Given the description of an element on the screen output the (x, y) to click on. 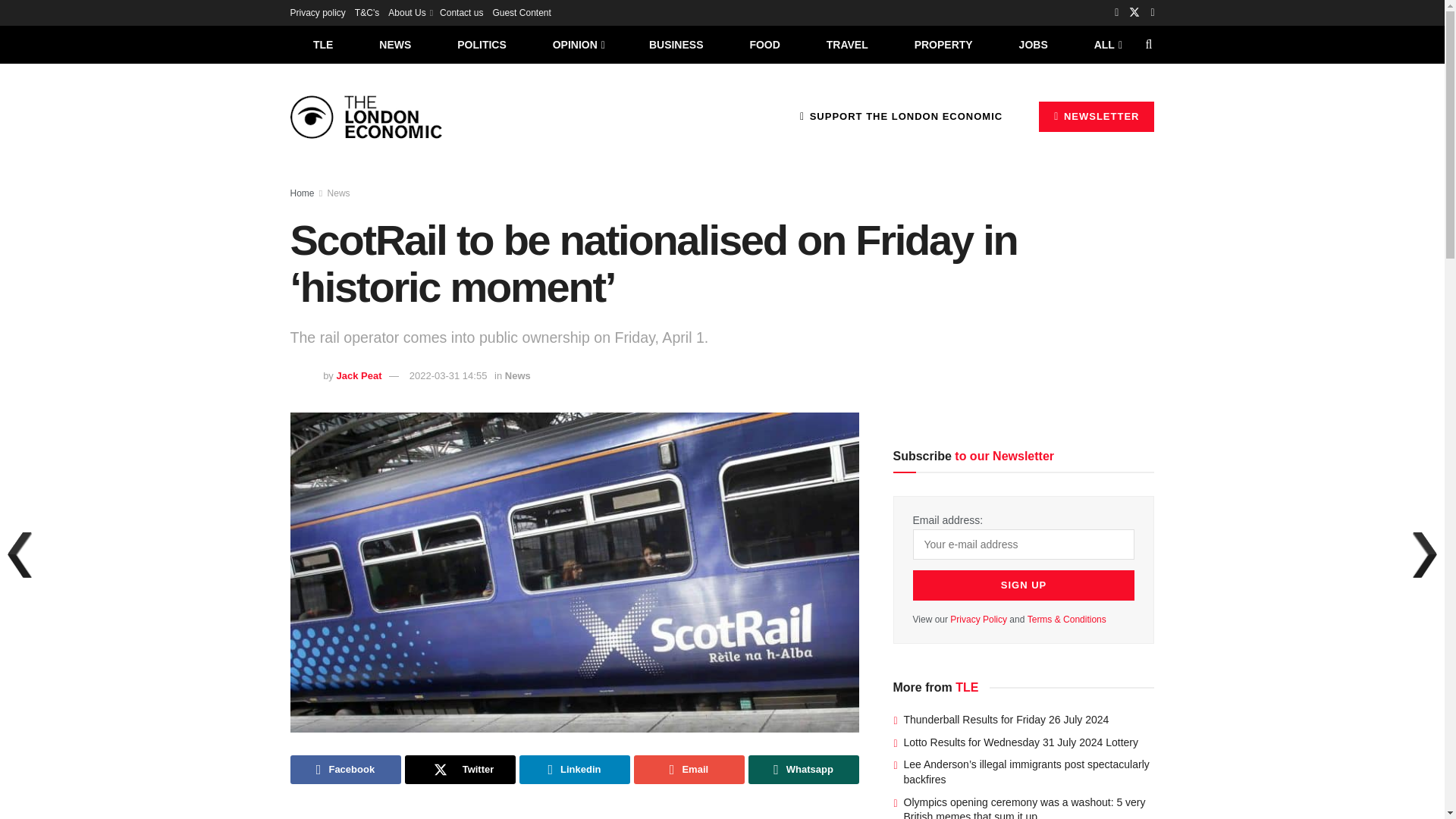
NEWSLETTER (1096, 116)
FOOD (764, 44)
TLE (322, 44)
OPINION (577, 44)
BUSINESS (676, 44)
NEWS (394, 44)
SUPPORT THE LONDON ECONOMIC (900, 116)
About Us (409, 12)
ALL (1106, 44)
Home (301, 193)
Guest Content (521, 12)
Contact us (461, 12)
JOBS (1032, 44)
POLITICS (481, 44)
Sign up (1023, 585)
